Given the description of an element on the screen output the (x, y) to click on. 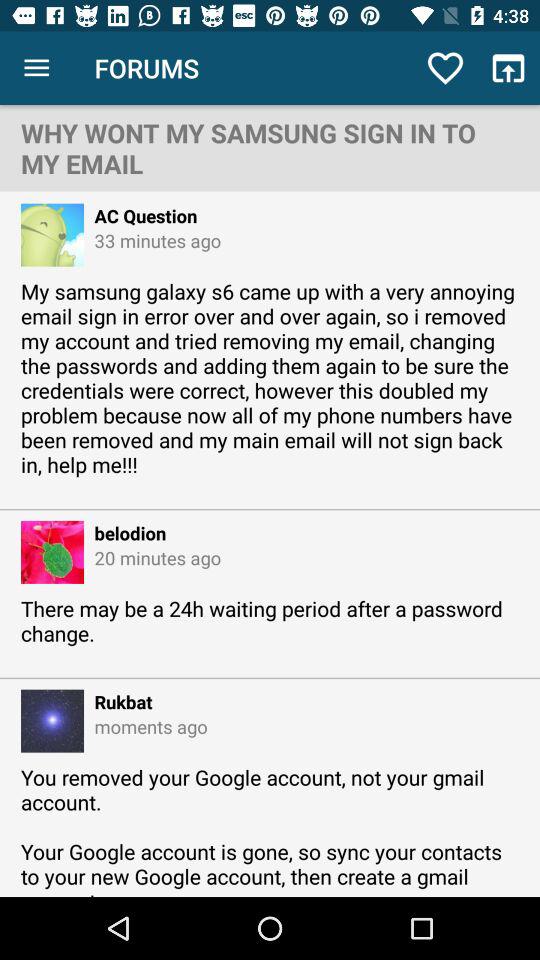
launch icon to the right of the forums (444, 67)
